Given the description of an element on the screen output the (x, y) to click on. 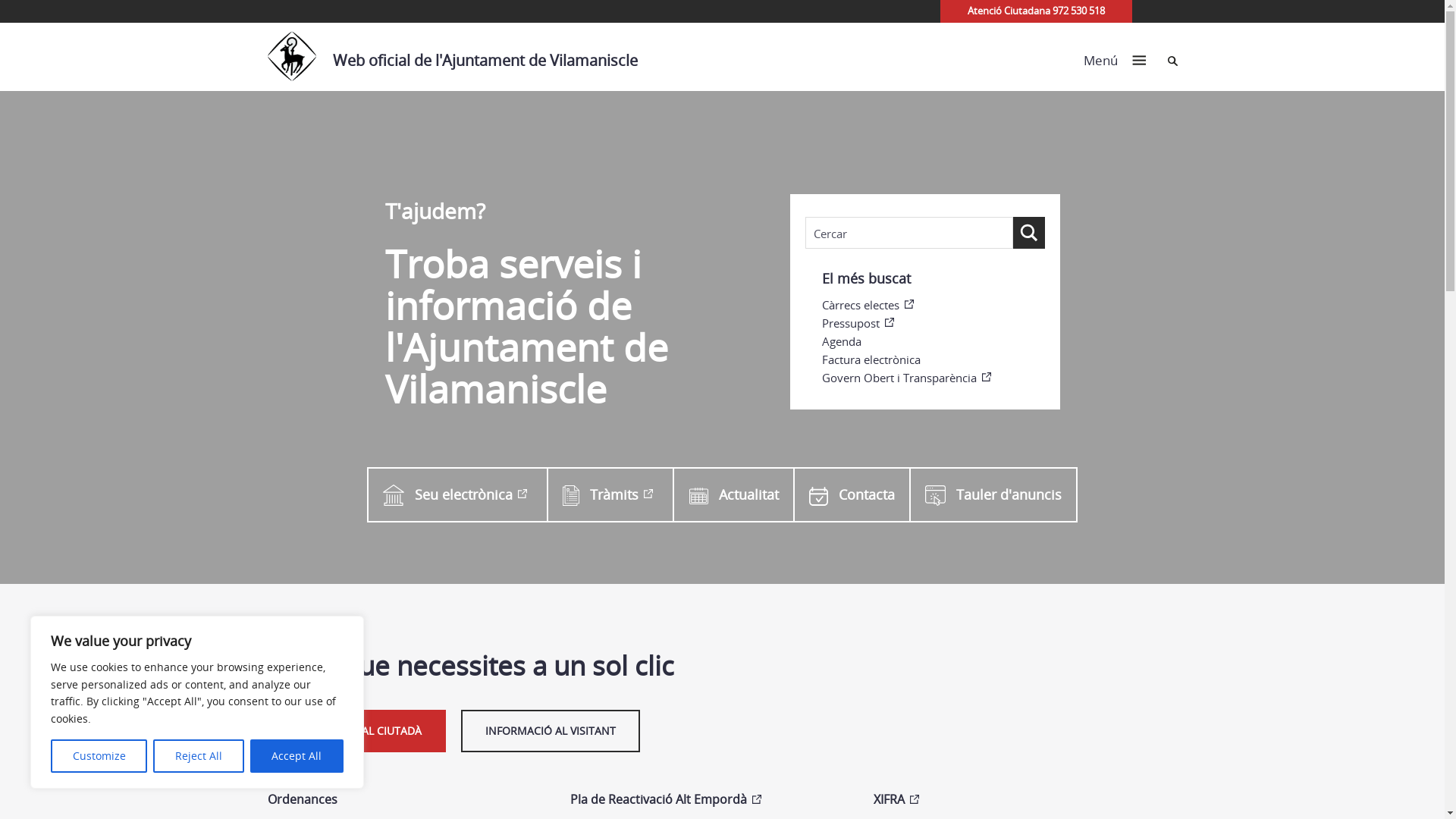
Reject All Element type: text (198, 755)
XIFRA Element type: text (1009, 799)
Icones-Actualitat
Actualitat Element type: text (732, 494)
Agenda Element type: text (933, 341)
Cerca Element type: text (1172, 60)
Customize Element type: text (98, 755)
Icones-e-tauler
Tauler d'anuncis Element type: text (993, 494)
Icones-Cita-previa
Contacta Element type: text (851, 494)
Ordenances Element type: text (402, 799)
Accept All Element type: text (296, 755)
Pressupost Element type: text (933, 322)
Web oficial de l'Ajuntament de Vilamaniscle Element type: text (459, 56)
